Given the description of an element on the screen output the (x, y) to click on. 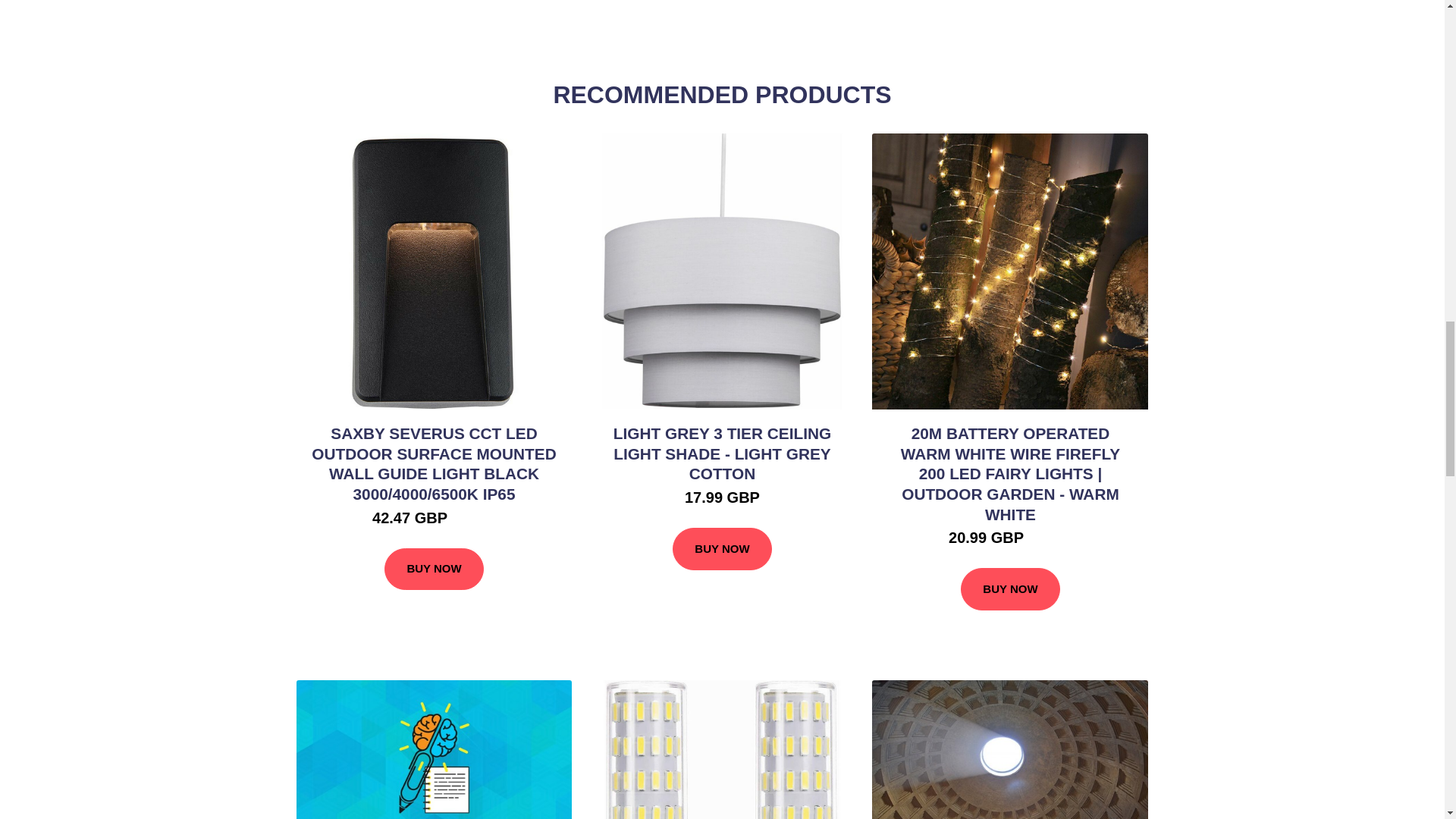
BUY NOW (433, 568)
BUY NOW (1009, 589)
BUY NOW (721, 548)
LIGHT GREY 3 TIER CEILING LIGHT SHADE - LIGHT GREY COTTON (721, 453)
